Given the description of an element on the screen output the (x, y) to click on. 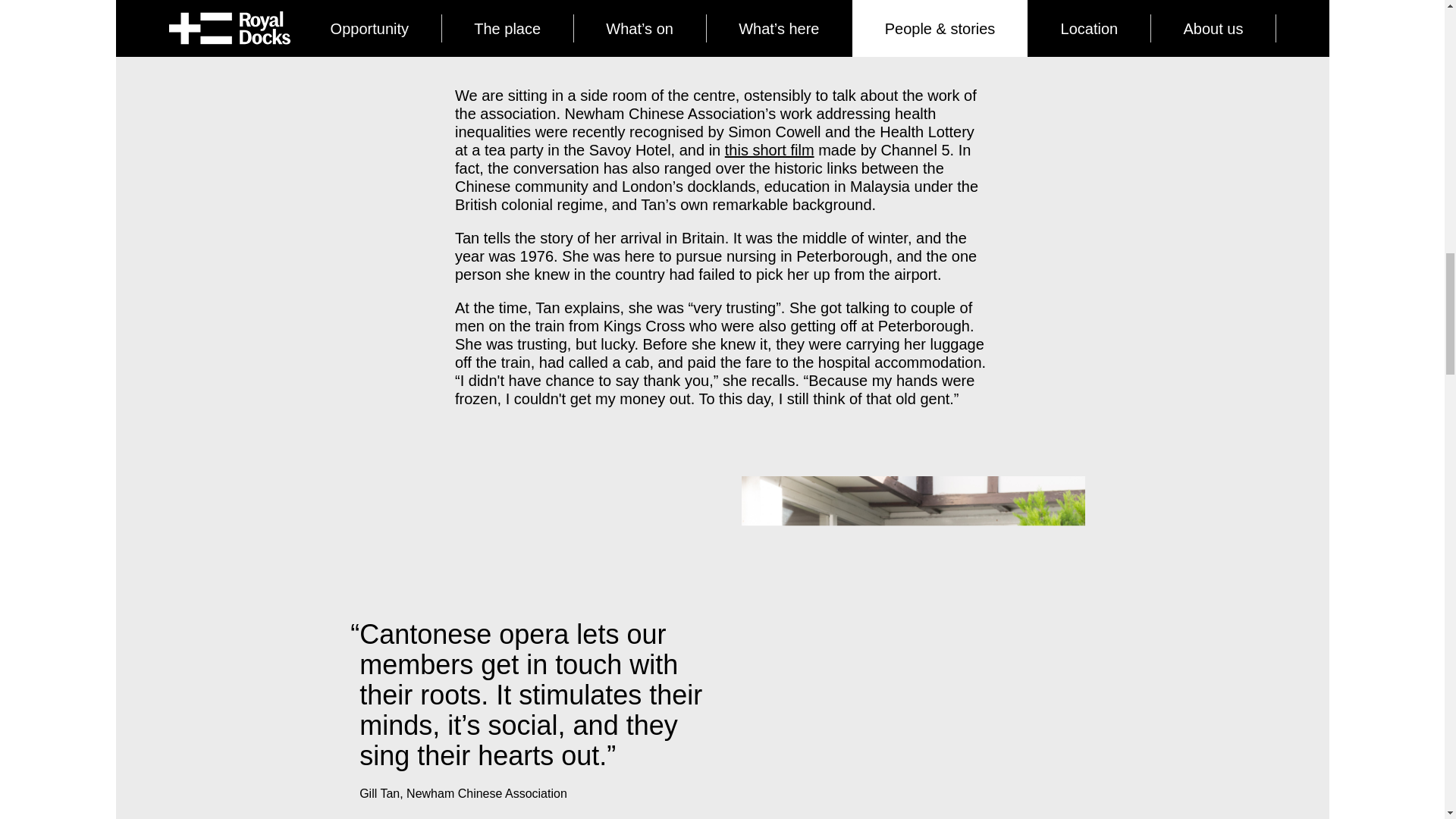
this short film (769, 149)
